Given the description of an element on the screen output the (x, y) to click on. 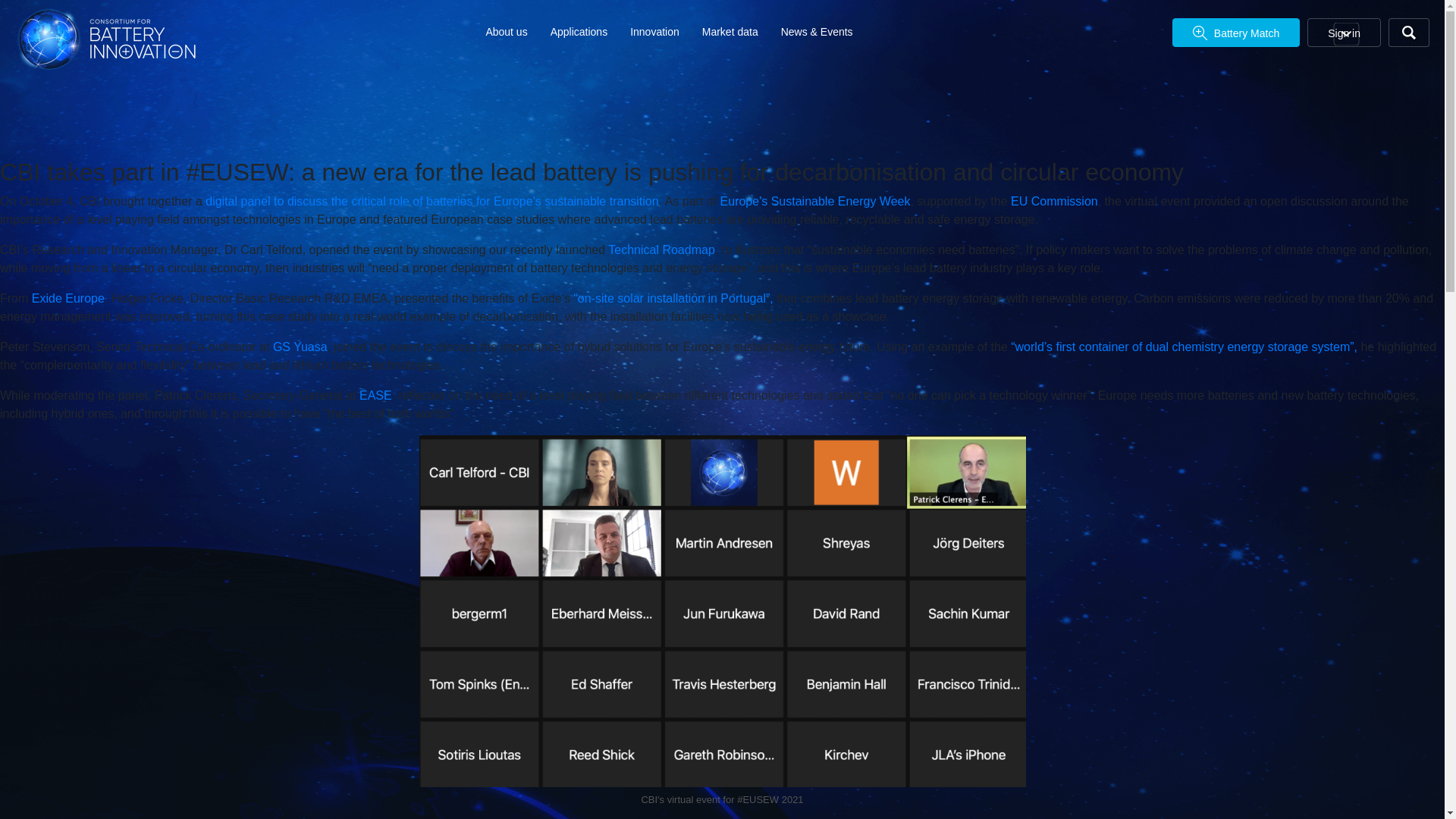
Battery Match (1236, 32)
GS Yuasa (300, 346)
Applications (579, 31)
Exide Europe (68, 297)
Europe's Sustainable Energy Week (815, 201)
EASE (375, 395)
Technical Roadmap (661, 249)
Innovation (654, 31)
Sign in (1343, 32)
About us (505, 31)
